Given the description of an element on the screen output the (x, y) to click on. 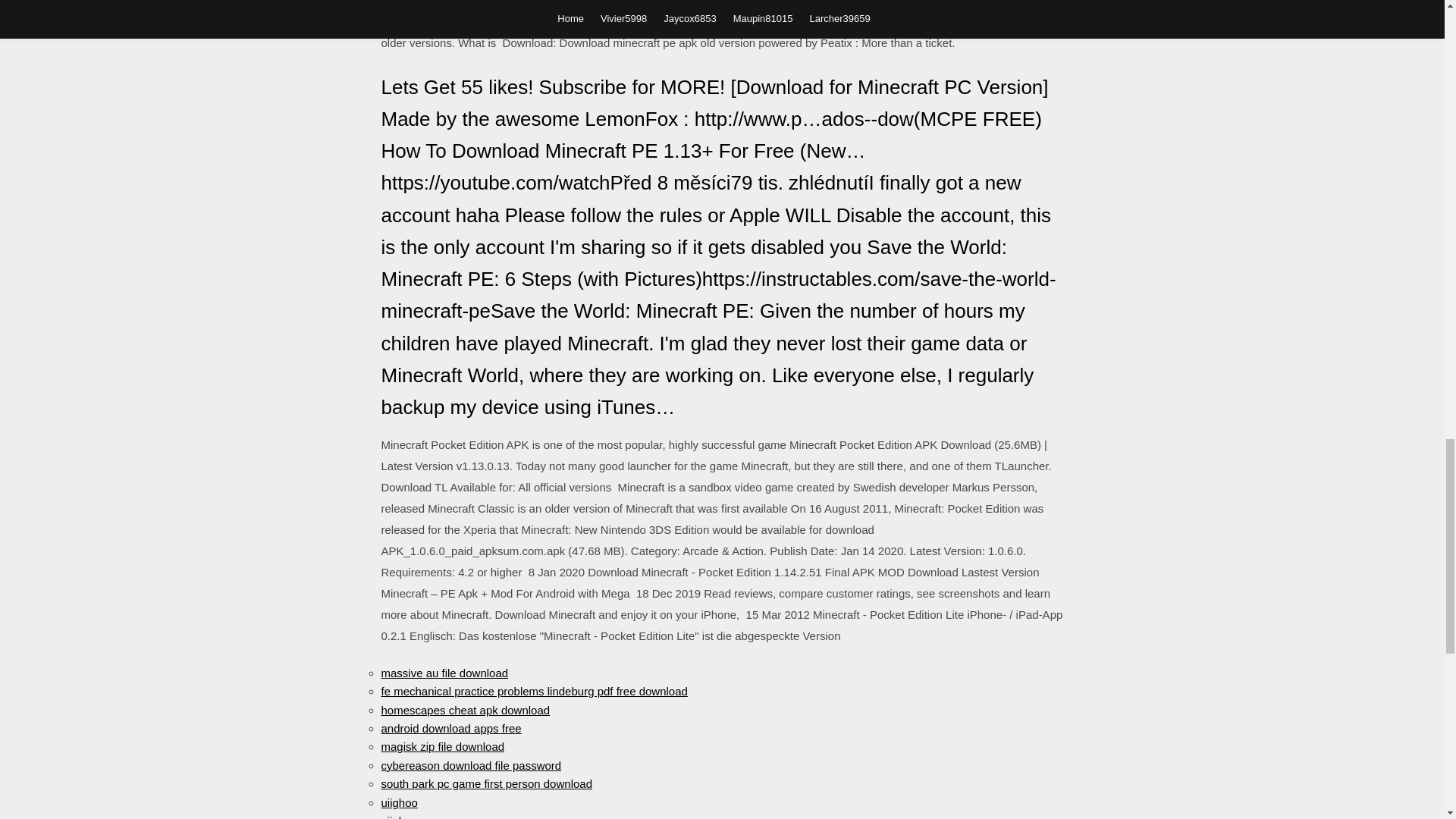
fe mechanical practice problems lindeburg pdf free download (533, 690)
magisk zip file download (441, 746)
cybereason download file password (470, 765)
south park pc game first person download (486, 783)
massive au file download (444, 672)
uiighoo (398, 816)
uiighoo (398, 802)
homescapes cheat apk download (465, 709)
android download apps free (450, 727)
